Given the description of an element on the screen output the (x, y) to click on. 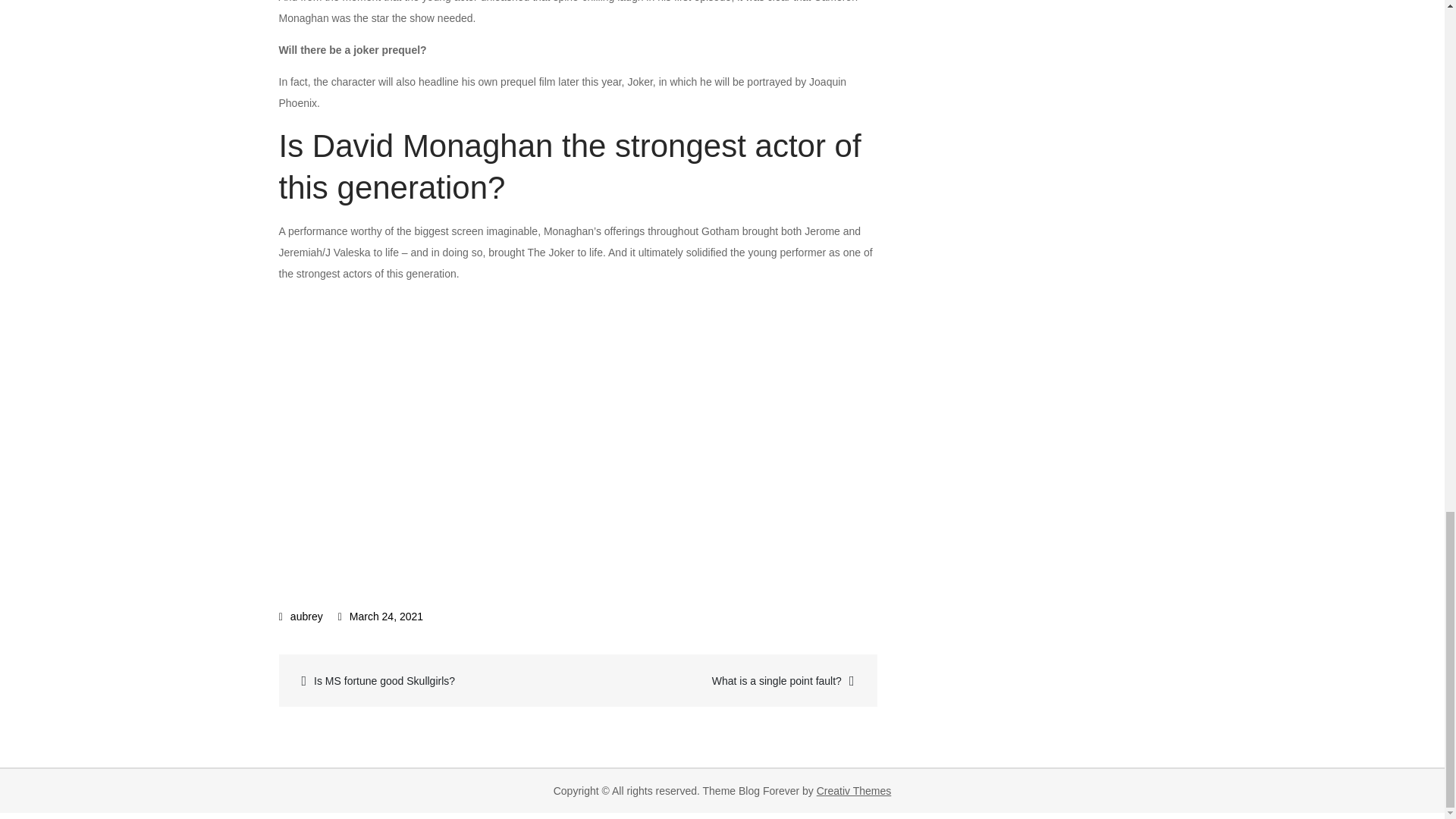
Cameron Monaghan Drops By To Chat About "Gotham" (521, 431)
Creativ Themes (853, 790)
What is a single point fault? (725, 680)
March 24, 2021 (380, 616)
Is MS fortune good Skullgirls? (430, 680)
aubrey (301, 616)
